Given the description of an element on the screen output the (x, y) to click on. 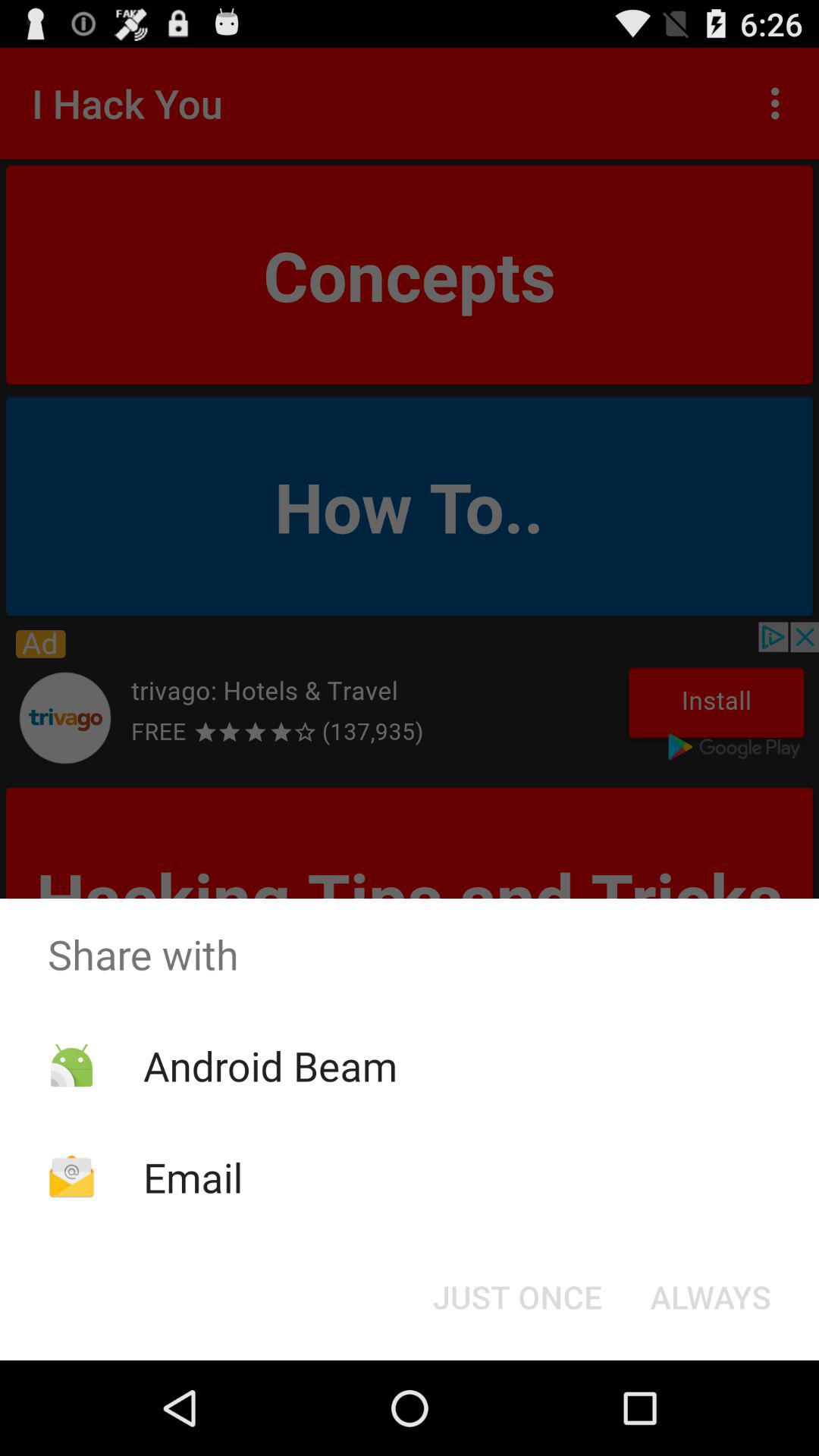
scroll to just once button (517, 1296)
